Given the description of an element on the screen output the (x, y) to click on. 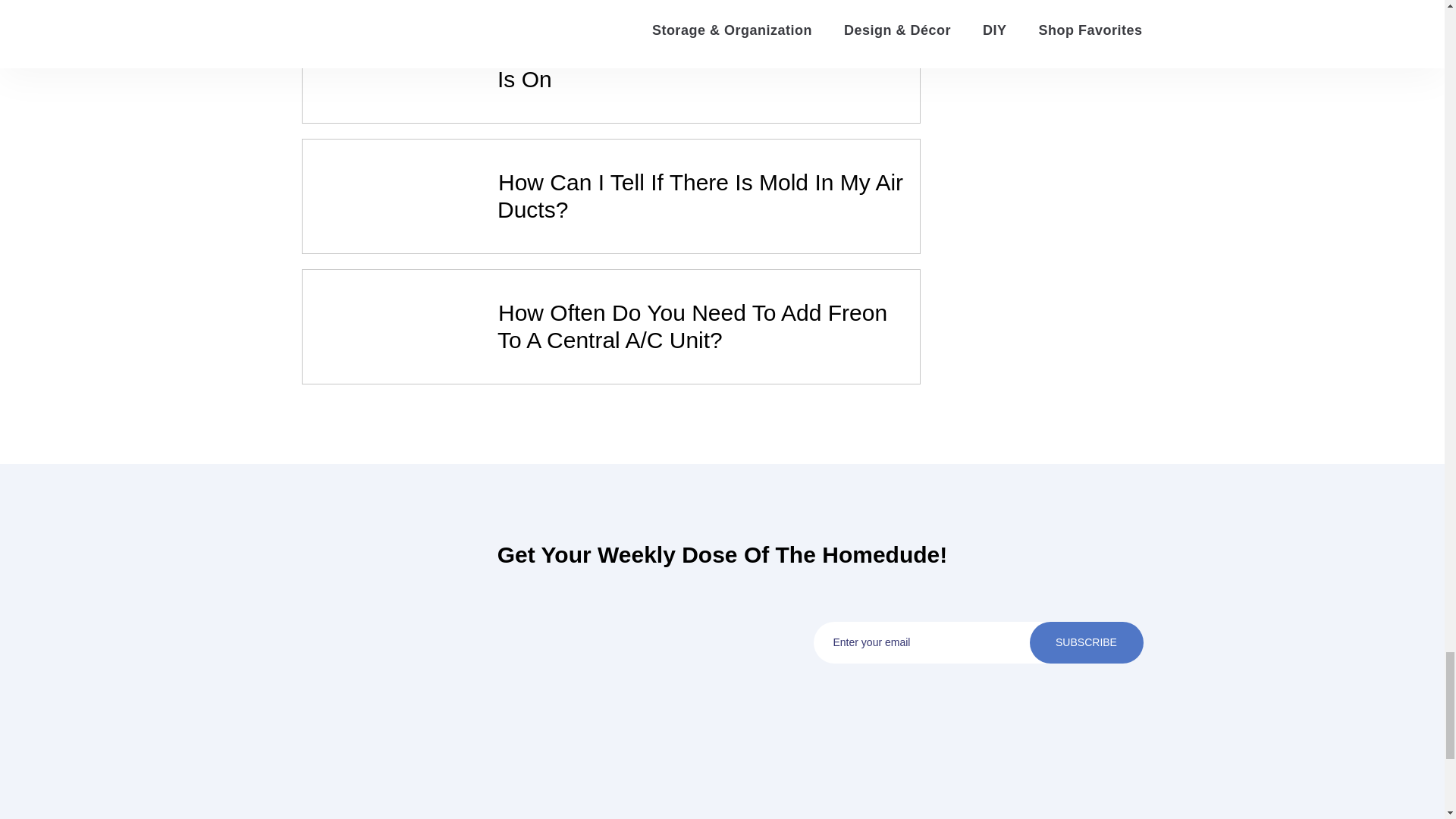
Subscribe (1085, 642)
How Can I Tell If There Is Mold In My Air Ducts? (699, 195)
Subscribe (1085, 642)
Cold Air Coming From Vents When Heat Is On (701, 65)
